Given the description of an element on the screen output the (x, y) to click on. 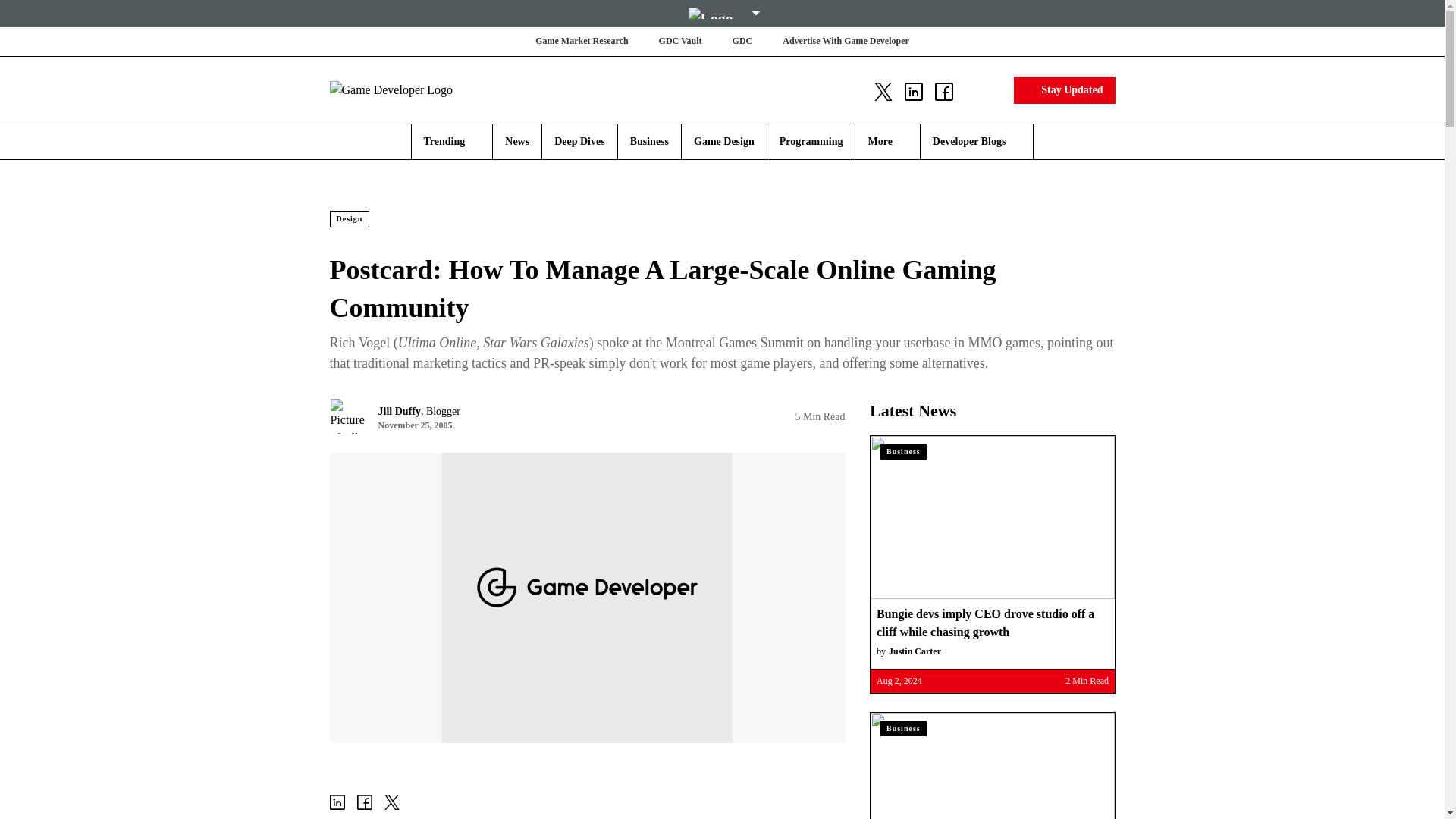
Advertise With Game Developer (845, 41)
GDC (742, 41)
GDC Vault (680, 41)
Game Developer Logo (419, 90)
Game Design (724, 141)
Stay Updated (1064, 89)
News (517, 141)
Picture of Jill Duffy (347, 416)
Programming (810, 141)
Business (649, 141)
Game Market Research (581, 41)
Deep Dives (579, 141)
